Given the description of an element on the screen output the (x, y) to click on. 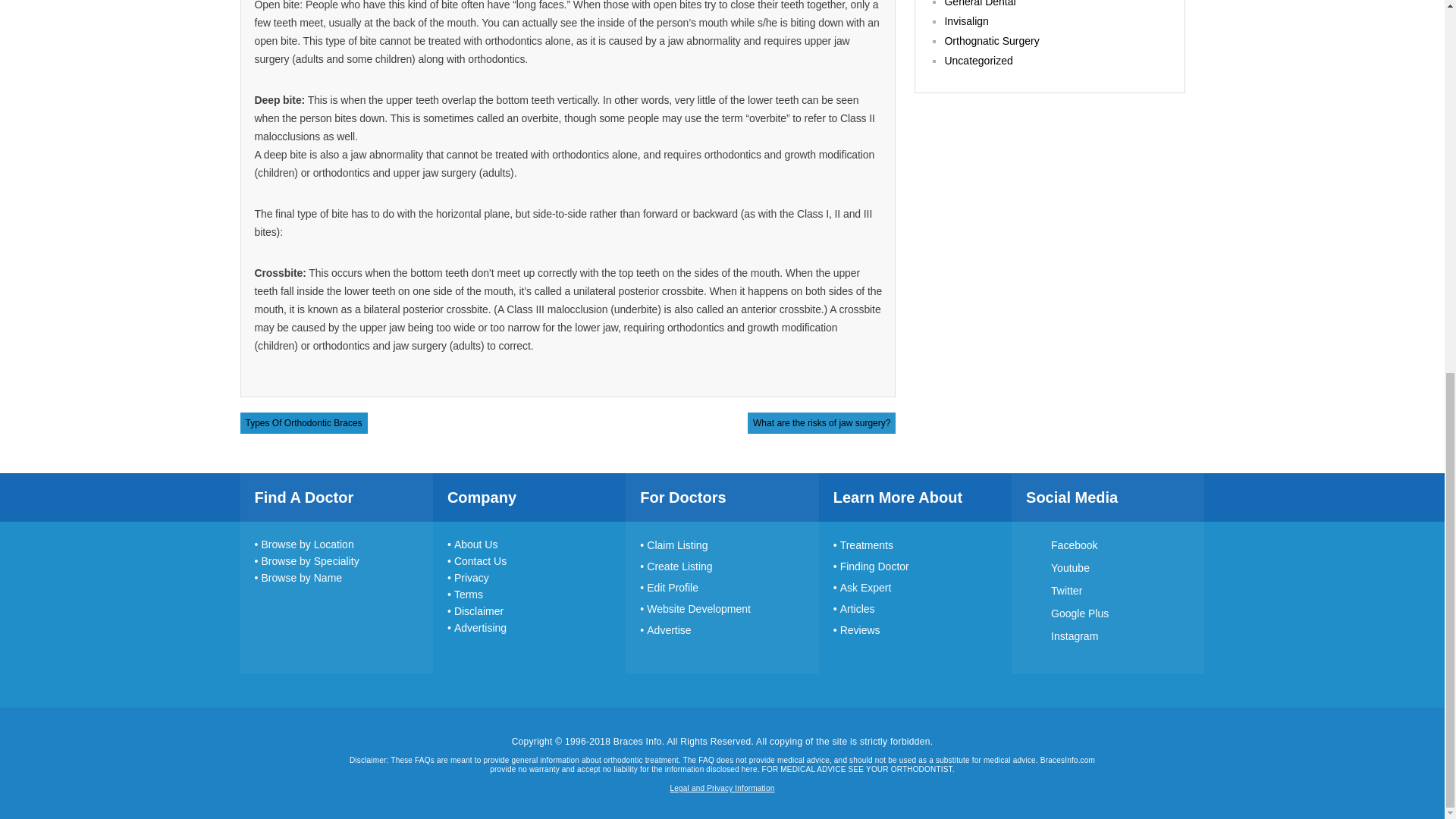
General Dental (978, 3)
Advertising (476, 627)
Browse by Location (303, 544)
Orthognatic Surgery (991, 40)
Website Development (695, 608)
Terms (464, 594)
Edit Profile (669, 587)
Uncategorized (977, 60)
What are the risks of jaw surgery? (820, 422)
Types Of Orthodontic Braces (304, 422)
